Given the description of an element on the screen output the (x, y) to click on. 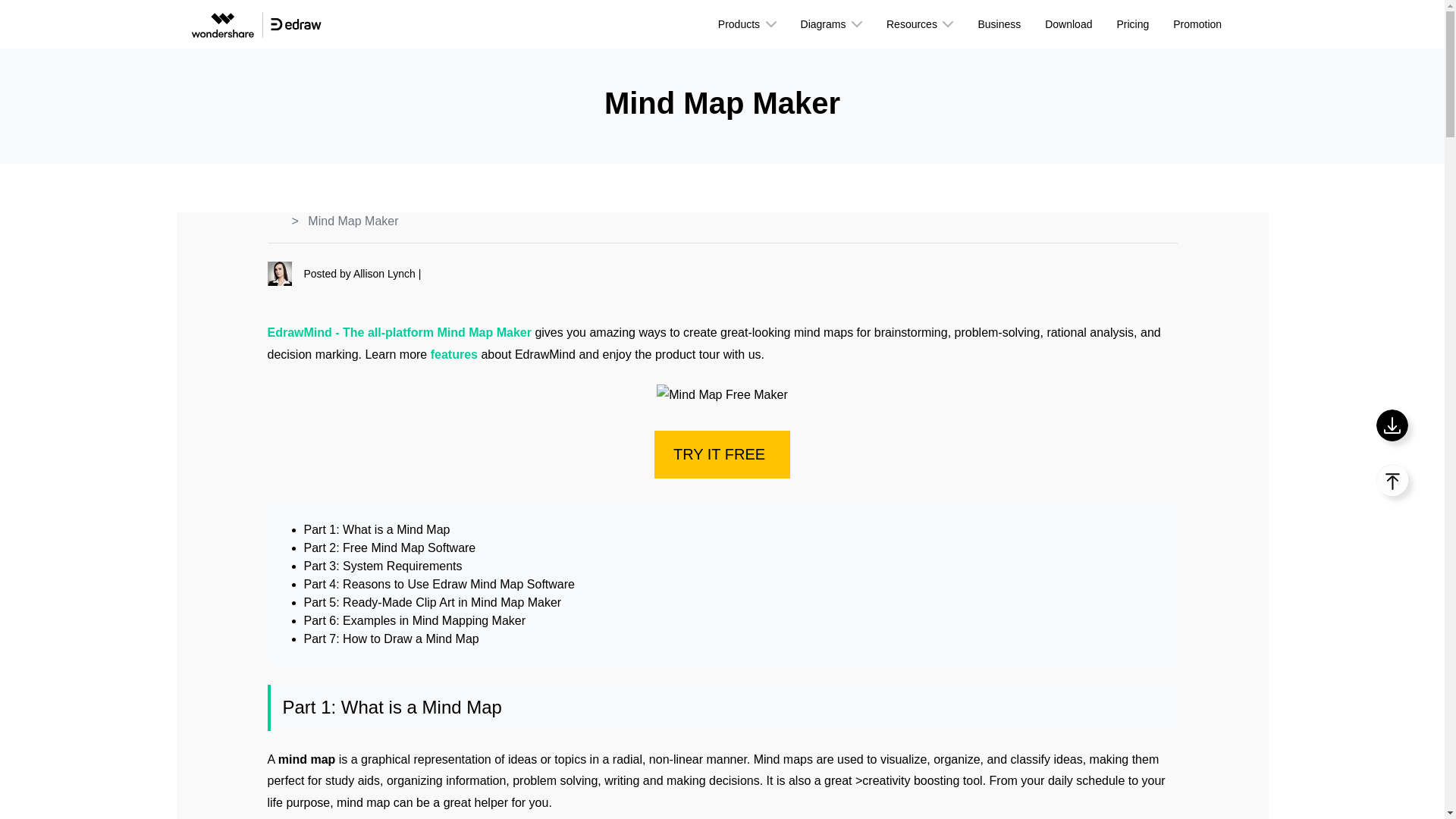
Free Download (1391, 425)
Products (747, 24)
Diagrams (832, 24)
Back to Top (1391, 480)
